Given the description of an element on the screen output the (x, y) to click on. 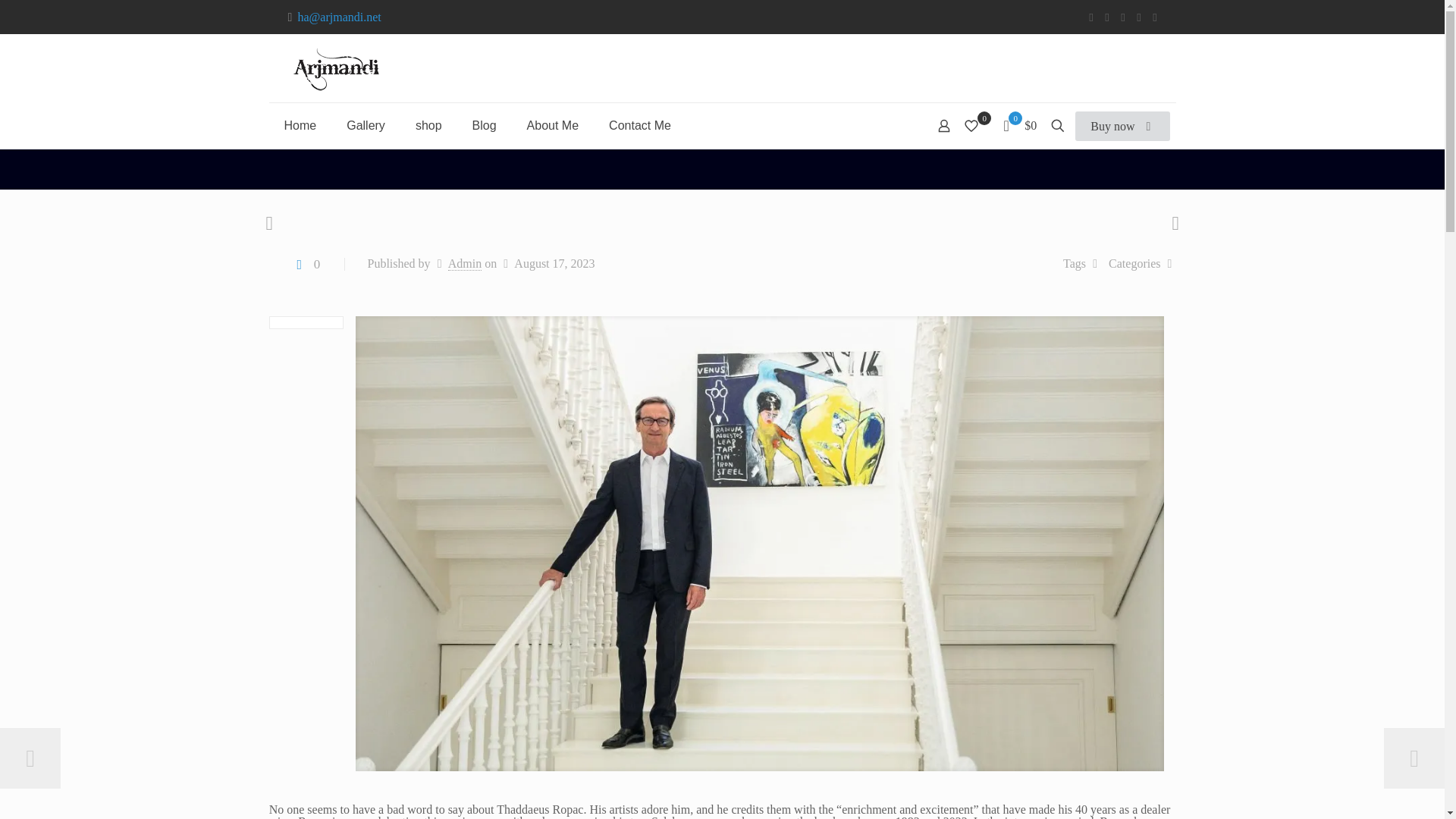
Instagram (1138, 17)
Buy now (1122, 125)
Home (299, 125)
LinkedIn (1123, 17)
Admin (464, 264)
0 (975, 125)
0 (306, 264)
Facebook (1091, 17)
Gallery (365, 125)
YouTube (1106, 17)
Helen Arjmandi (335, 68)
Blog (484, 125)
About Me (553, 125)
etsy (1155, 17)
shop (428, 125)
